Given the description of an element on the screen output the (x, y) to click on. 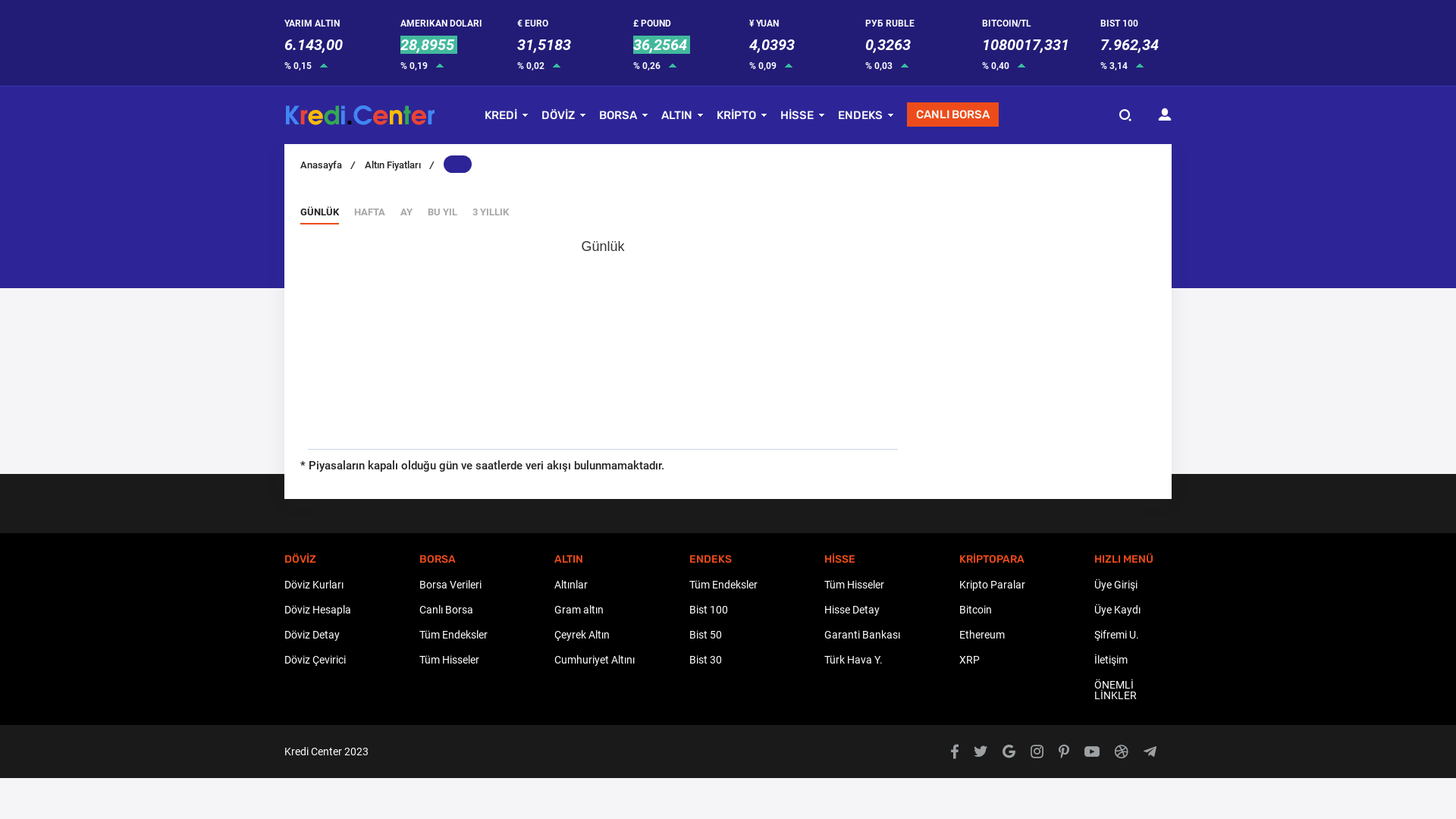
Bist 30 Element type: text (756, 659)
ALTIN Element type: text (676, 115)
Kripto Paralar Element type: text (1026, 584)
BORSA Element type: text (618, 115)
ENDEKS Element type: text (859, 115)
Bist 100 Element type: text (756, 609)
XRP Element type: text (1026, 659)
Anasayfa/ Element type: text (327, 164)
Ethereum Element type: text (1026, 634)
CANLI BORSA Element type: text (952, 114)
Hisse Detay Element type: text (891, 609)
Bist 50 Element type: text (756, 634)
Bitcoin Element type: text (1026, 609)
Borsa Verileri Element type: text (486, 584)
